Given the description of an element on the screen output the (x, y) to click on. 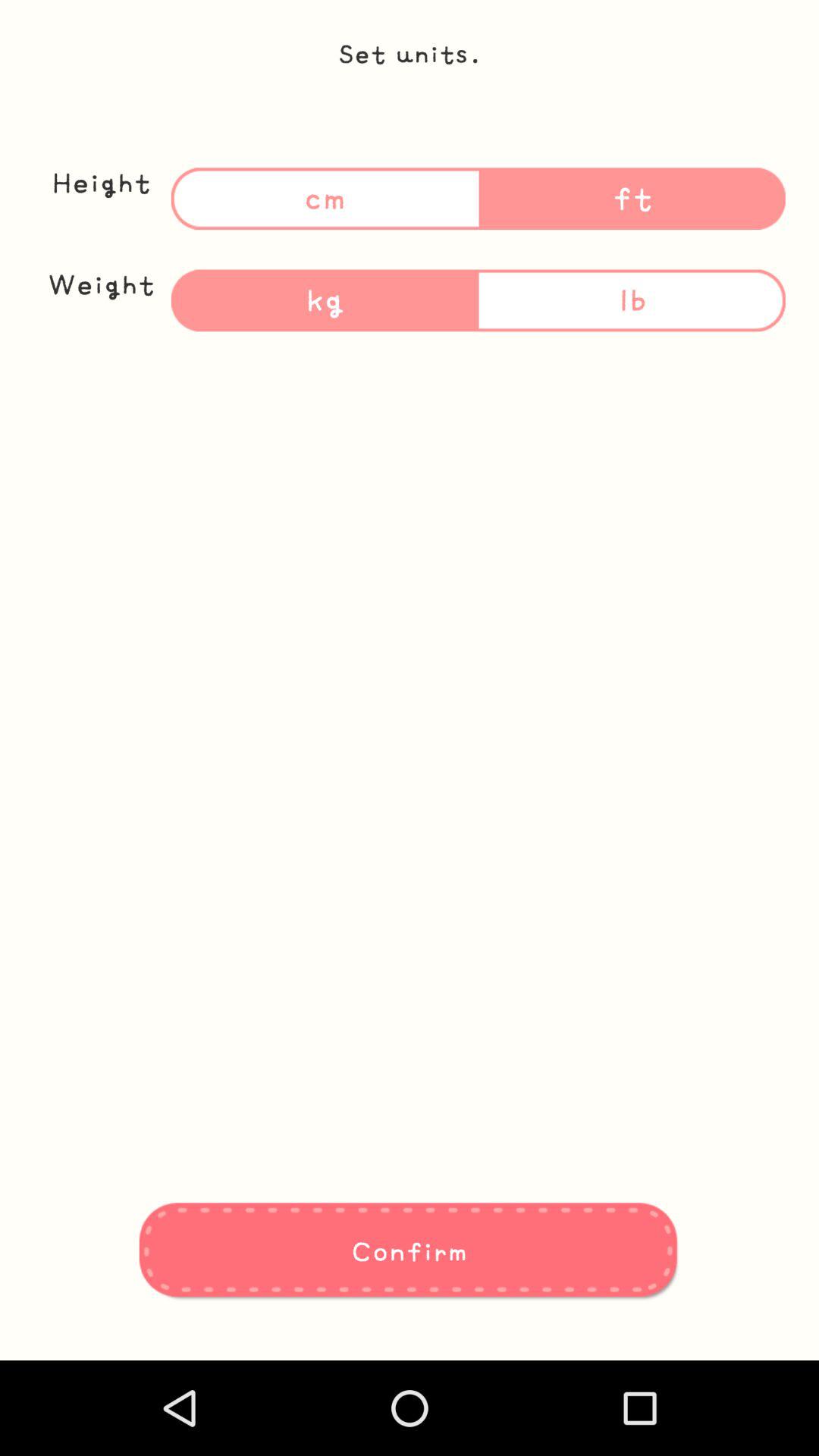
click on the text cm (325, 198)
click on the text cm (325, 198)
click on kg button (325, 300)
